Given the description of an element on the screen output the (x, y) to click on. 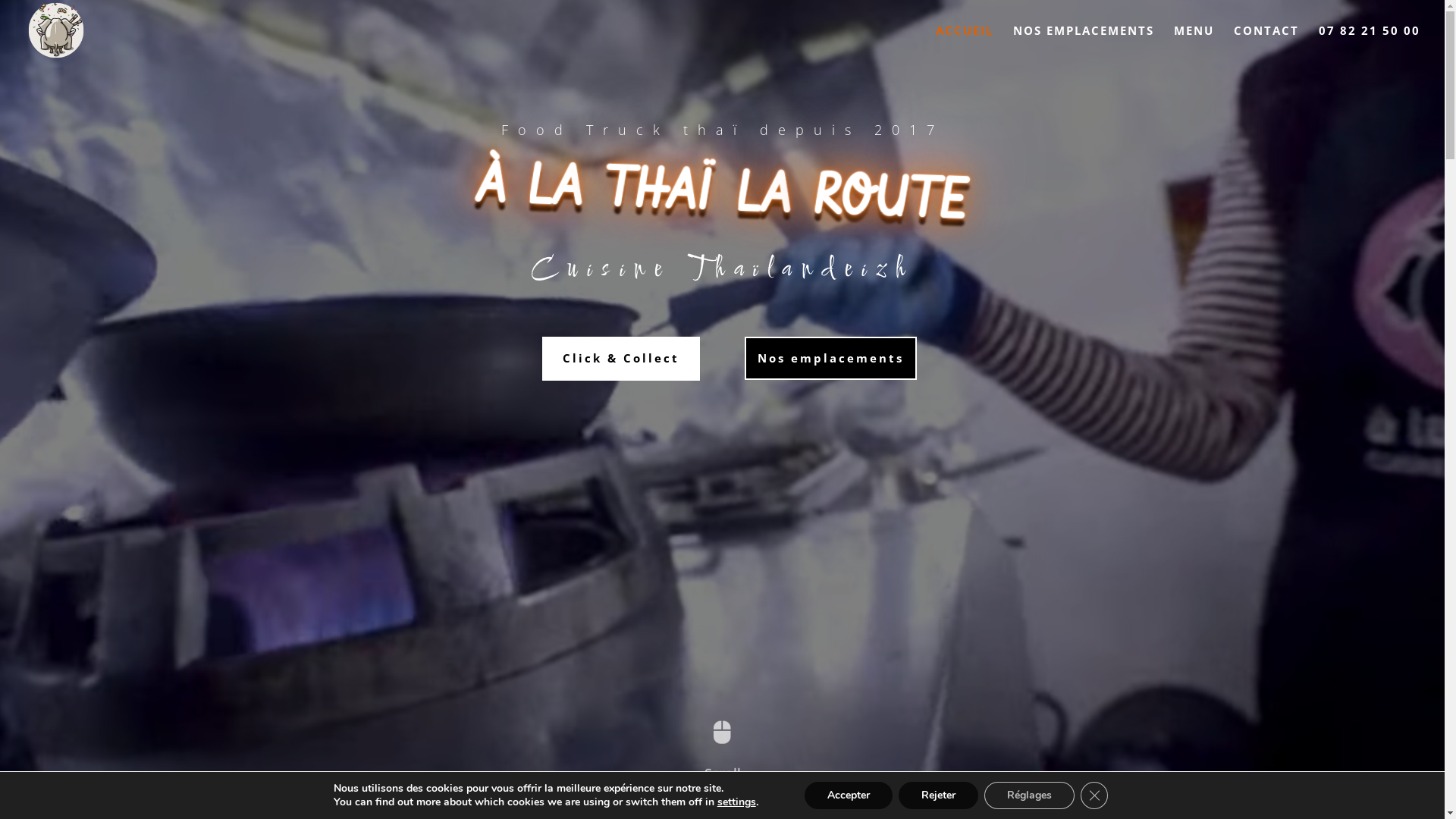
ACCUEIL Element type: text (964, 42)
Rejeter Element type: text (938, 795)
settings Element type: text (736, 802)
Click & Collect Element type: text (620, 358)
07 82 21 50 00 Element type: text (1369, 42)
Accepter Element type: text (848, 795)
CONTACT Element type: text (1266, 42)
Nos emplacements Element type: text (830, 358)
Close GDPR Cookie Banner Element type: text (1093, 795)
MENU Element type: text (1193, 42)
NOS EMPLACEMENTS Element type: text (1083, 42)
